Given the description of an element on the screen output the (x, y) to click on. 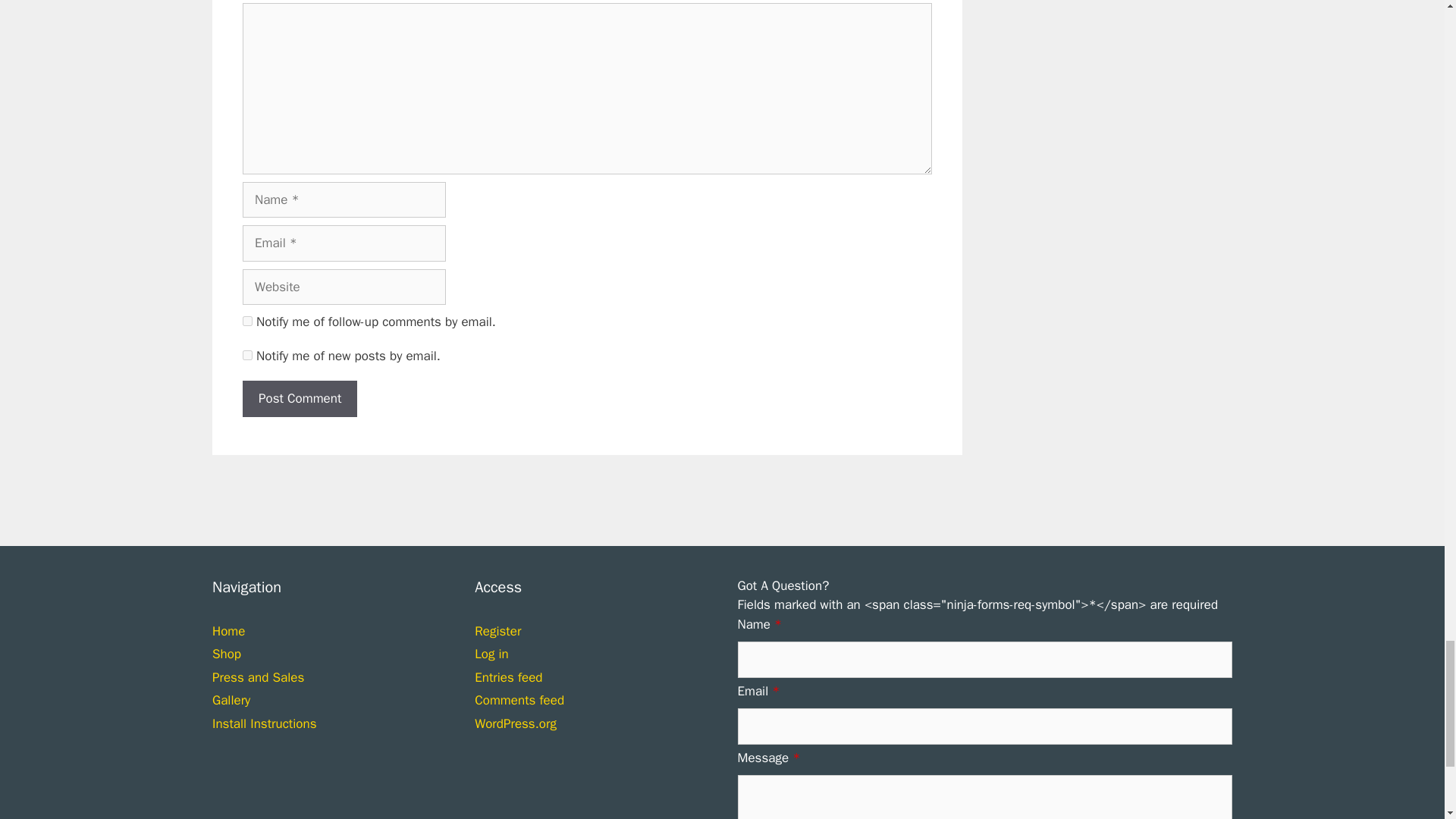
Post Comment (299, 398)
subscribe (247, 355)
subscribe (247, 320)
